Given the description of an element on the screen output the (x, y) to click on. 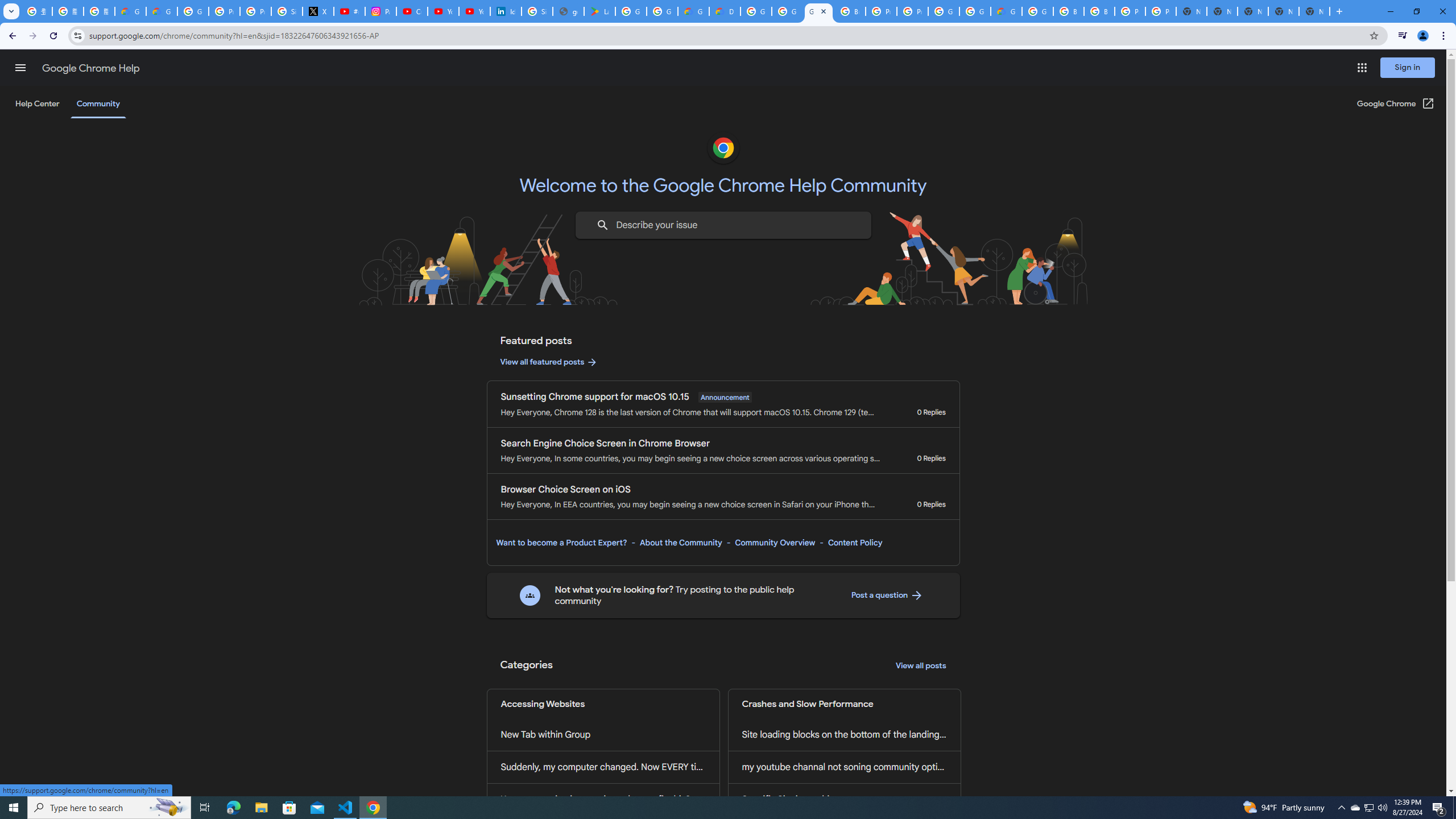
Want to become a Product Expert? (561, 542)
Content Policy (854, 542)
Google Cloud Platform (974, 11)
